Given the description of an element on the screen output the (x, y) to click on. 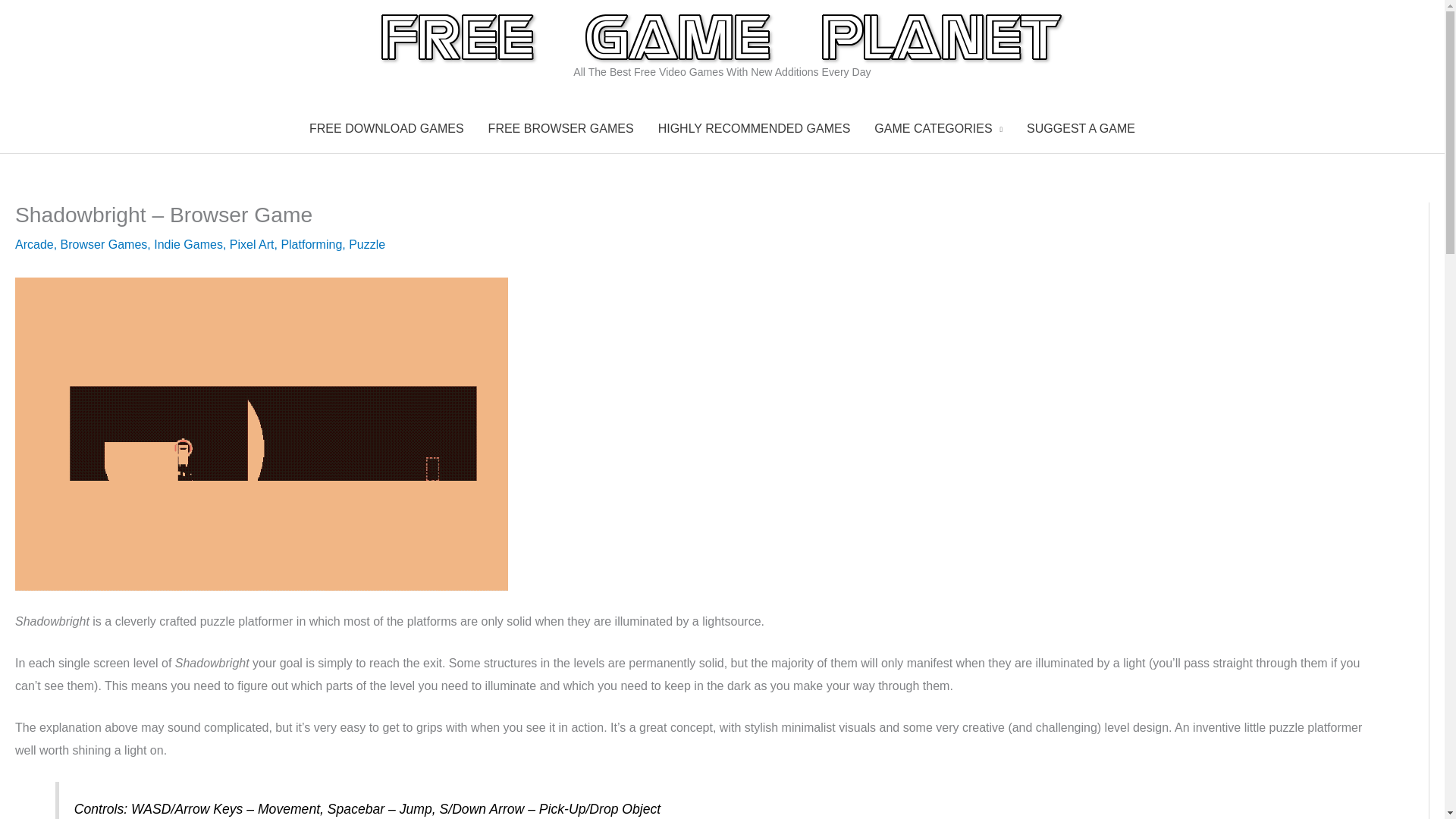
FREE DOWNLOAD GAMES (386, 128)
HIGHLY RECOMMENDED GAMES (754, 128)
GAME CATEGORIES (937, 128)
FREE BROWSER GAMES (561, 128)
